Given the description of an element on the screen output the (x, y) to click on. 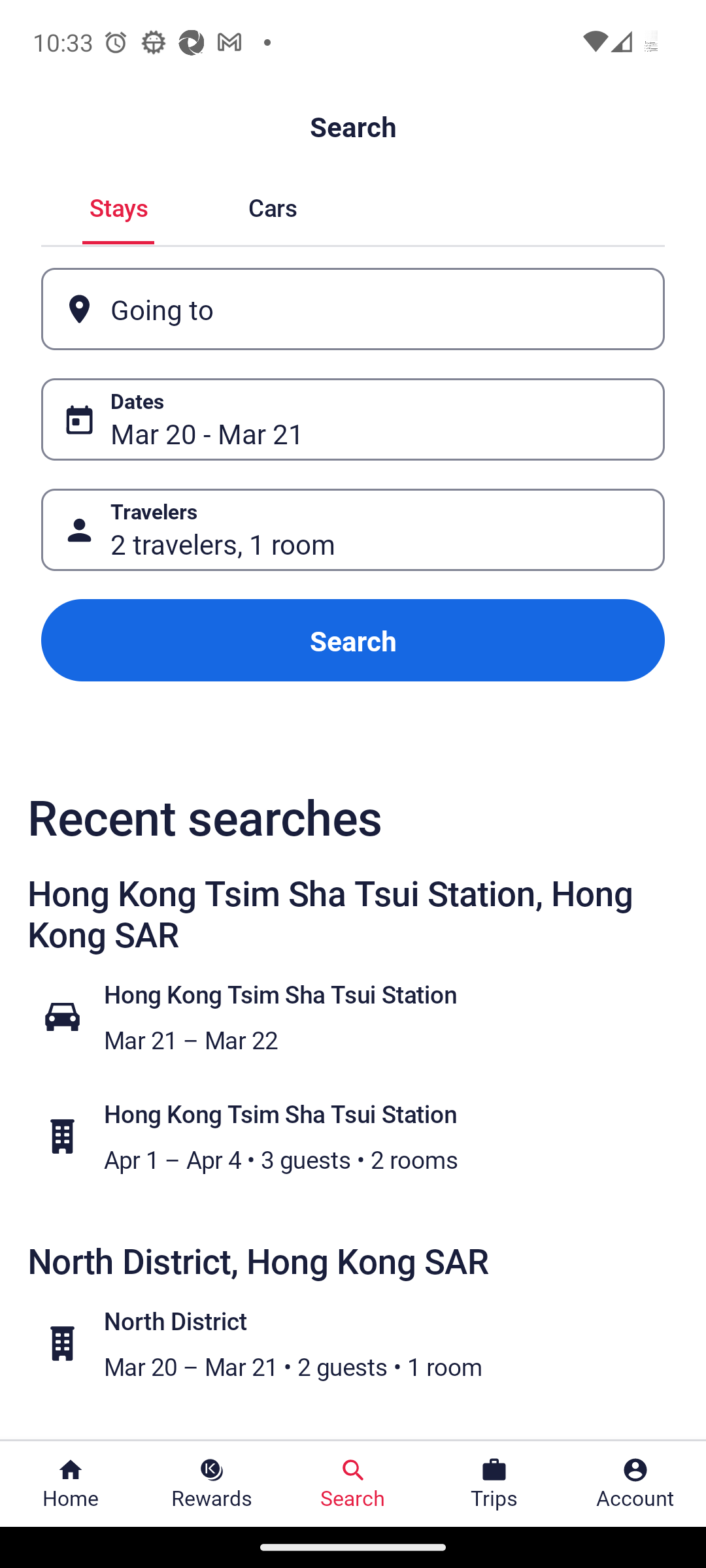
Cars (272, 205)
Going to Button (352, 308)
Dates Button Mar 20 - Mar 21 (352, 418)
Travelers Button 2 travelers, 1 room (352, 529)
Search (352, 640)
Hong Kong Tsim Sha Tsui Station Mar 21 – Mar 22 (363, 1016)
North District Mar 20 – Mar 21 • 2 guests • 1 room (363, 1343)
Home Home Button (70, 1483)
Rewards Rewards Button (211, 1483)
Trips Trips Button (493, 1483)
Account Profile. Button (635, 1483)
